Given the description of an element on the screen output the (x, y) to click on. 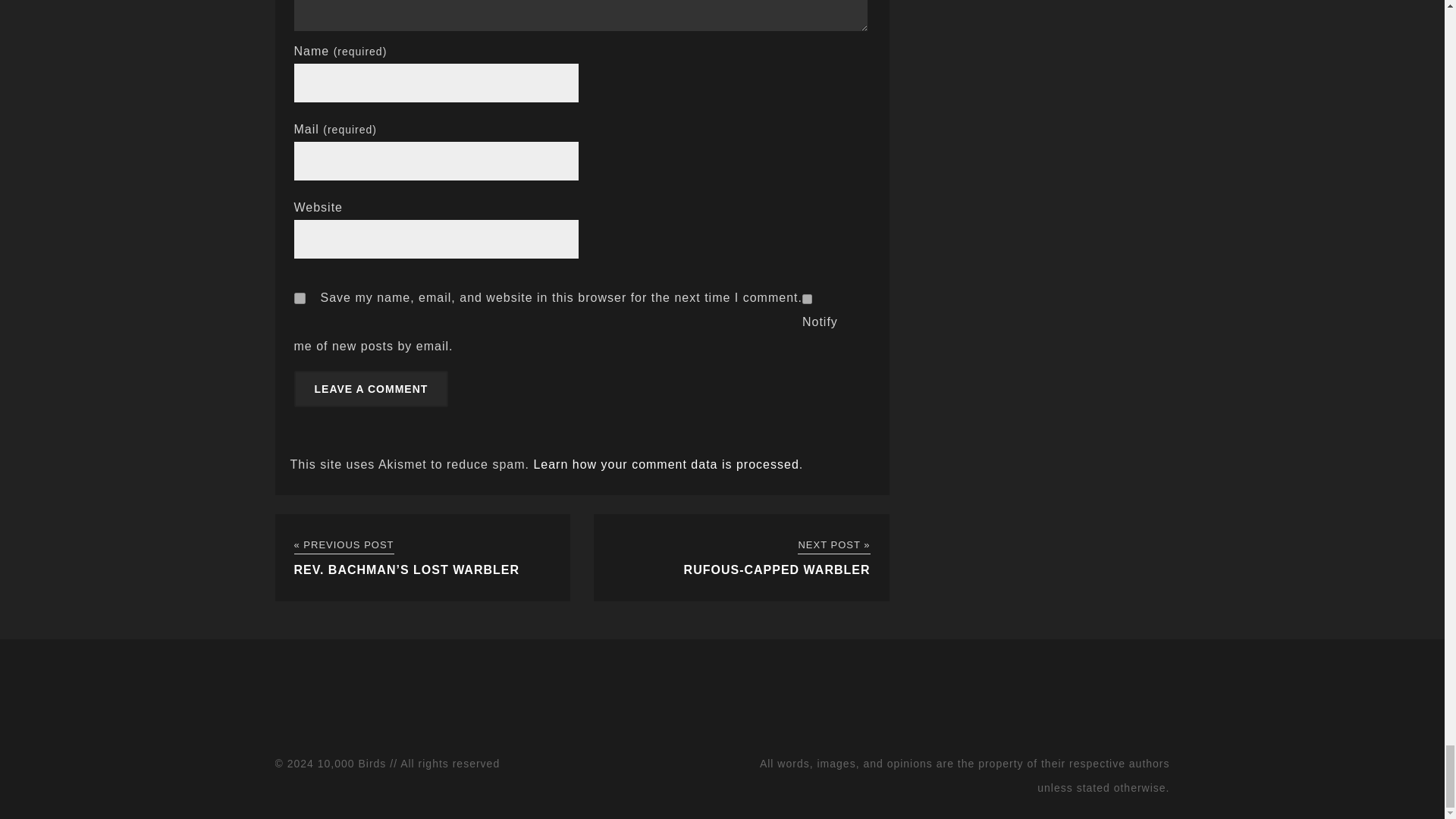
Leave a Comment (371, 389)
yes (299, 297)
